Given the description of an element on the screen output the (x, y) to click on. 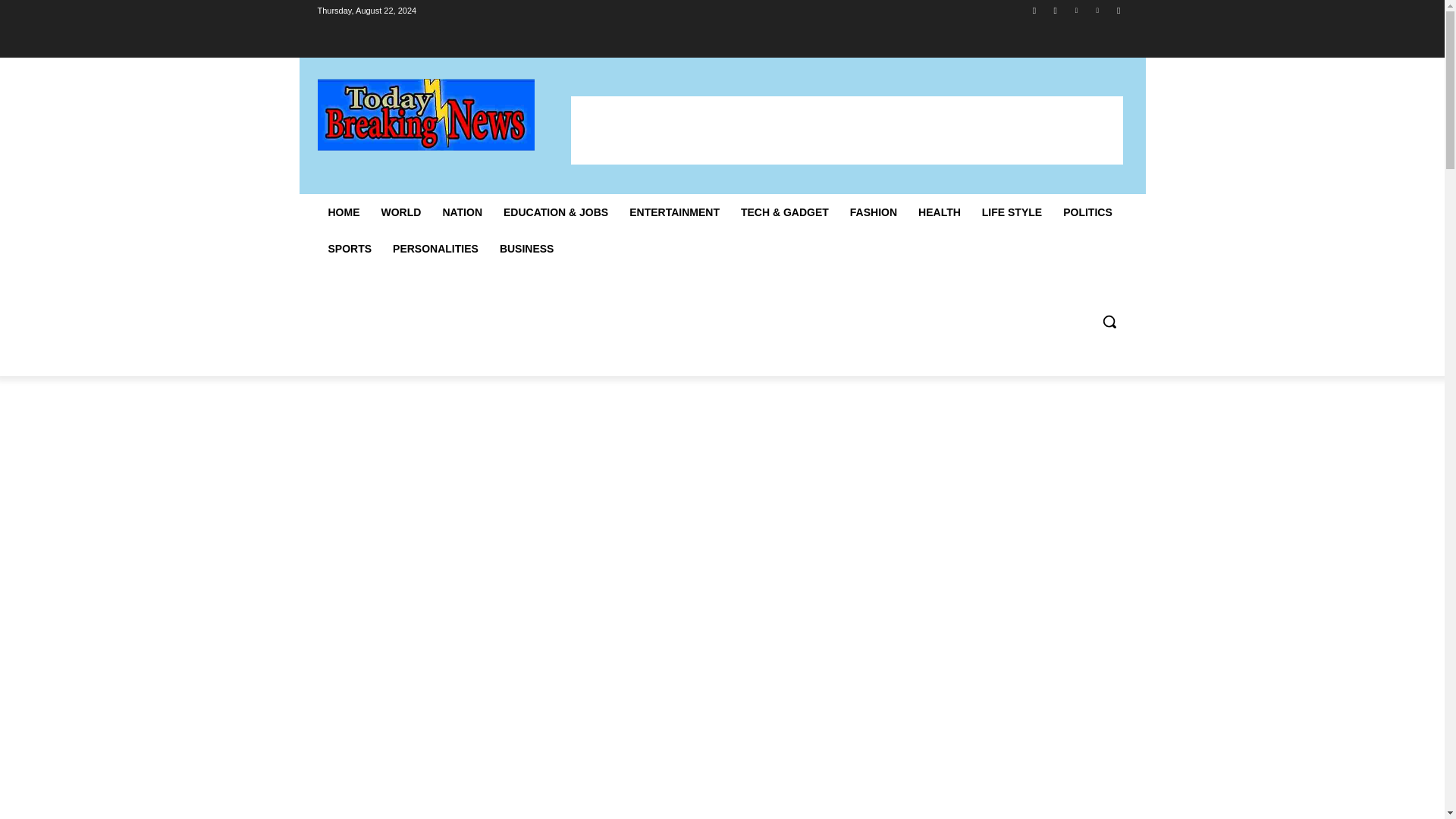
Facebook (1034, 9)
Instagram (1055, 9)
Twitter (1075, 9)
Youtube (1117, 9)
HOME (343, 212)
Vimeo (1097, 9)
